Given the description of an element on the screen output the (x, y) to click on. 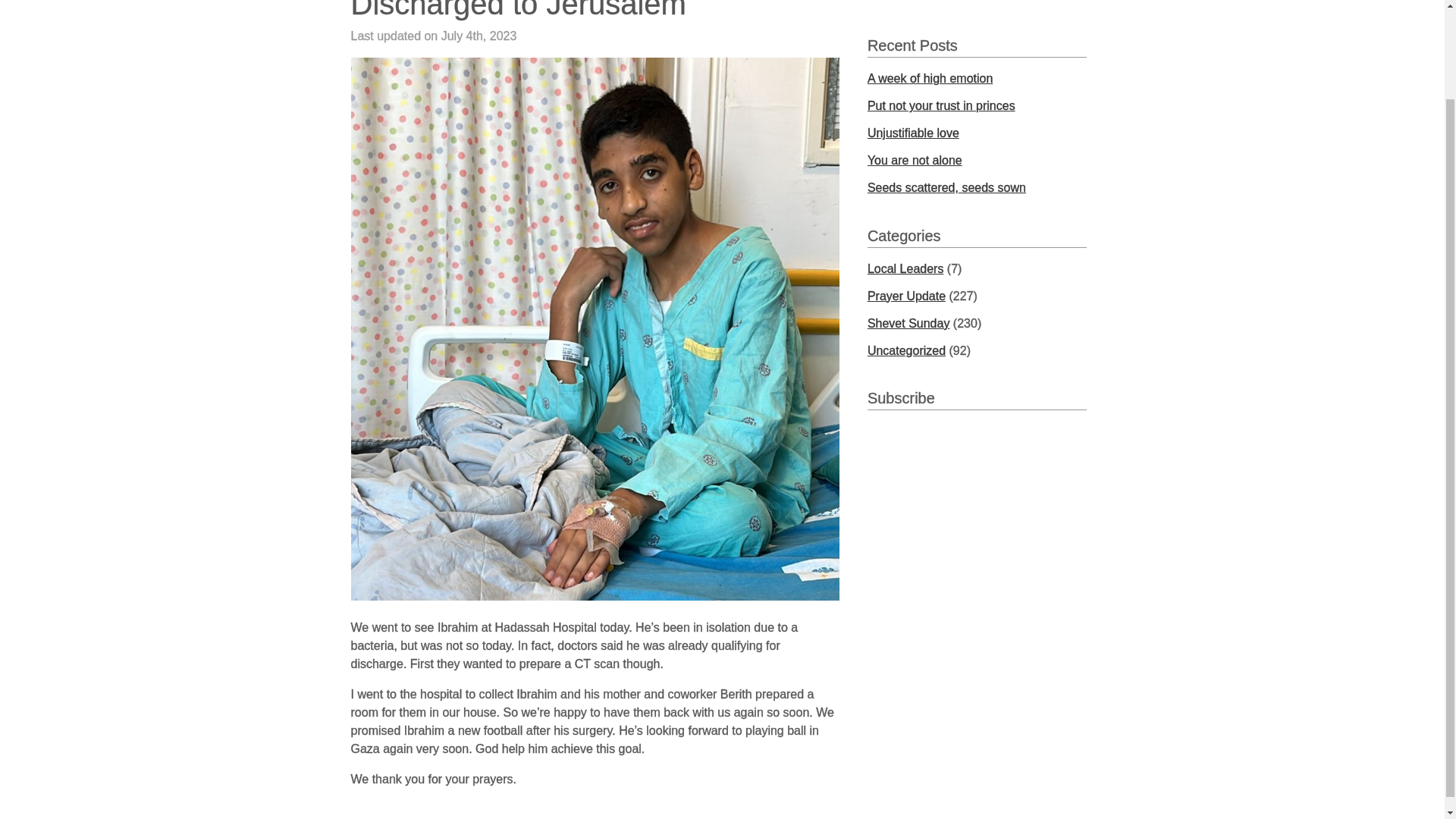
Prayer Update (905, 295)
Put not your trust in princes (940, 105)
Seeds scattered, seeds sown (946, 187)
Unjustifiable love (913, 132)
Uncategorized (905, 350)
Local Leaders (905, 268)
Shevet Sunday (908, 323)
You are not alone (914, 160)
A week of high emotion (929, 78)
